Given the description of an element on the screen output the (x, y) to click on. 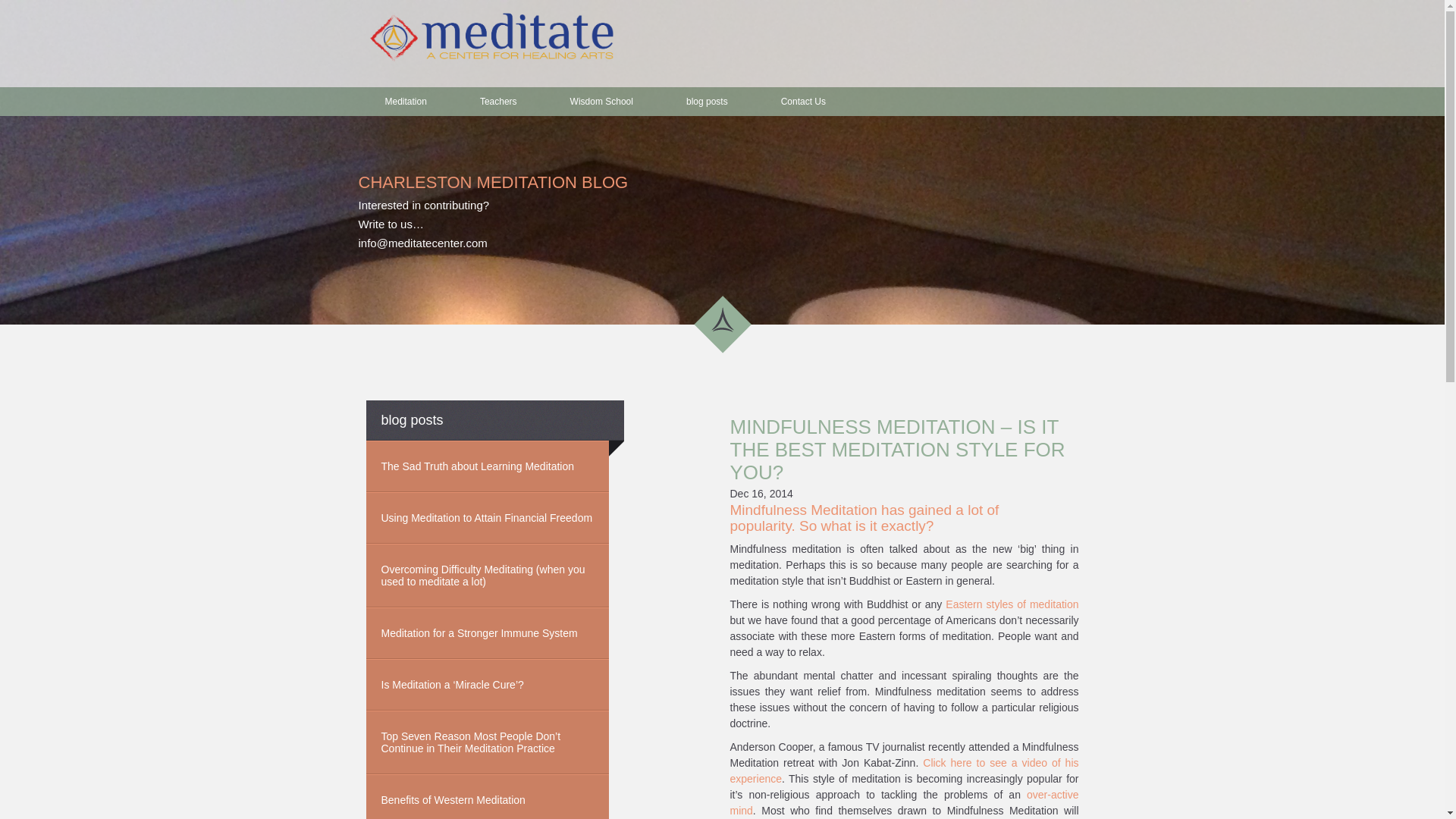
Permanent link to The Sad Truth about Learning Meditation (486, 466)
Meditation (405, 101)
Contact Us (802, 101)
Using Meditation to Attain Financial Freedom (486, 517)
Wisdom School (601, 101)
blog posts (706, 101)
Meditation for a Stronger Immune System (486, 633)
Permanent link to Meditation for a Stronger Immune System (486, 633)
Teachers (497, 101)
The Sad Truth about Learning Meditation (486, 466)
Permanent link to Benefits of Western Meditation (486, 796)
